Given the description of an element on the screen output the (x, y) to click on. 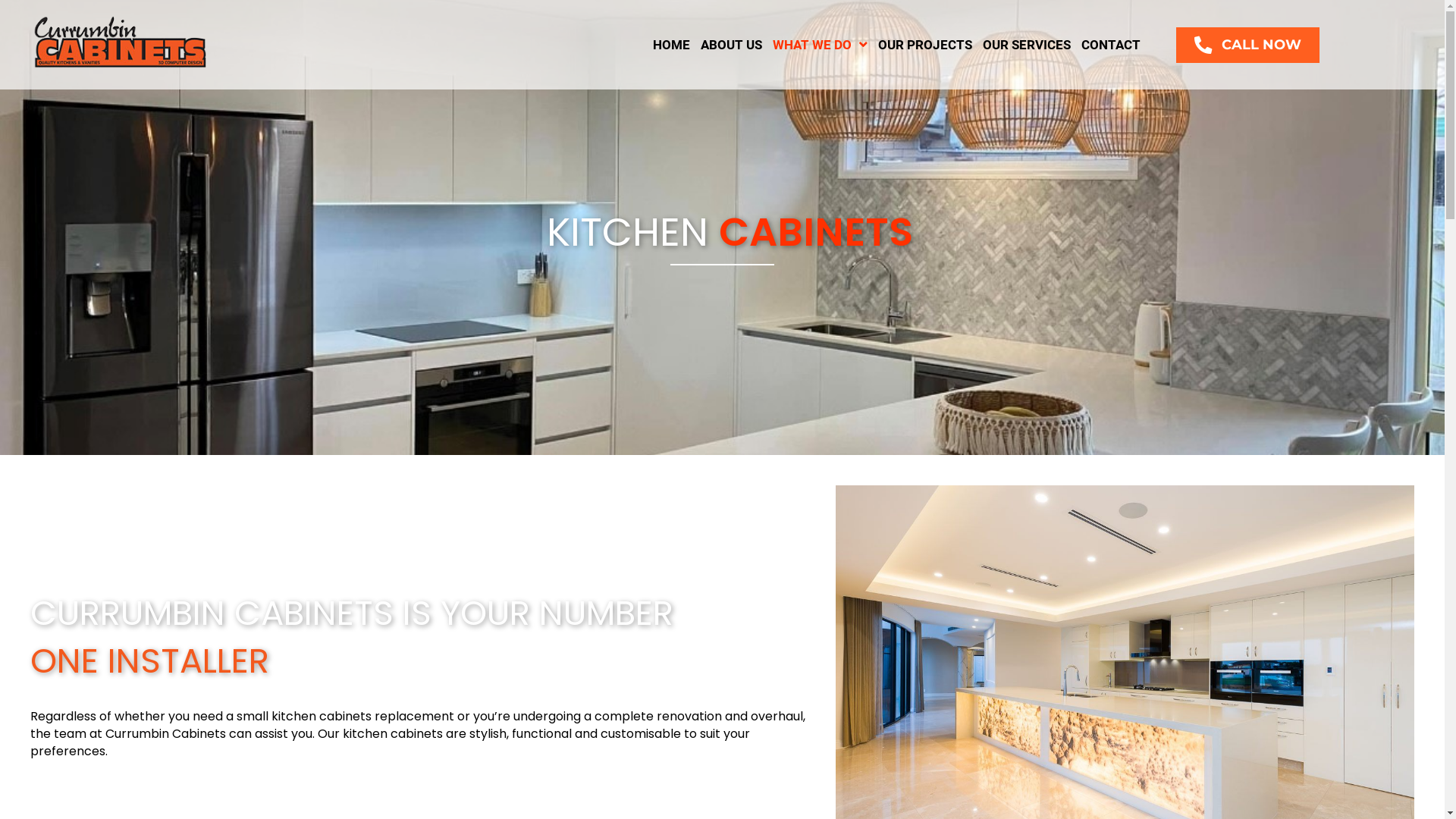
OUR PROJECTS Element type: text (924, 45)
logo-removebg-preview Element type: hover (119, 41)
WHAT WE DO Element type: text (820, 45)
OUR SERVICES Element type: text (1026, 45)
CONTACT Element type: text (1110, 45)
HOME Element type: text (671, 45)
CALL NOW Element type: text (1247, 44)
ABOUT US Element type: text (731, 45)
